Given the description of an element on the screen output the (x, y) to click on. 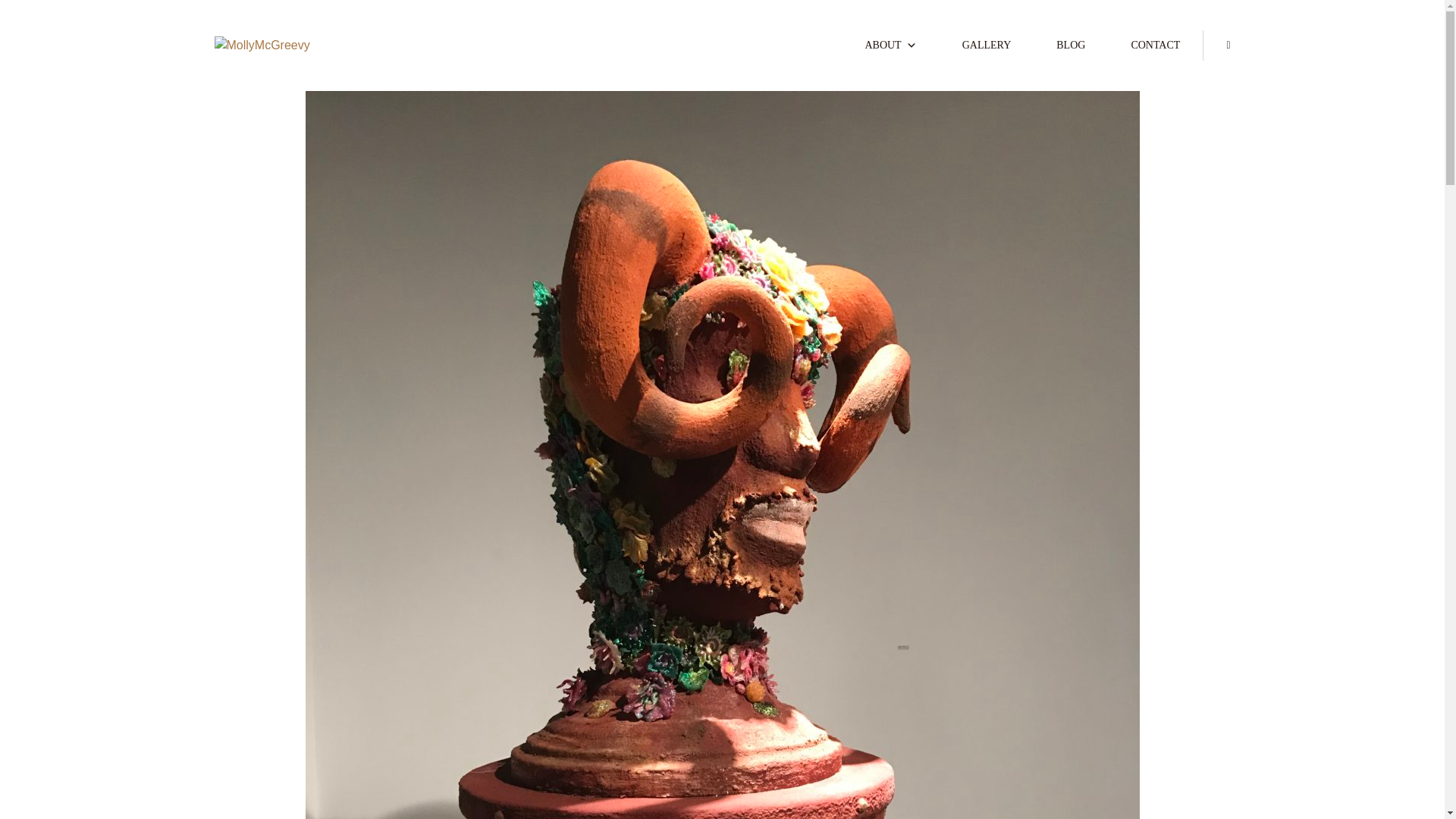
CONTACT (1155, 45)
BLOG (1070, 45)
ABOUT (890, 45)
GALLERY (986, 45)
